Given the description of an element on the screen output the (x, y) to click on. 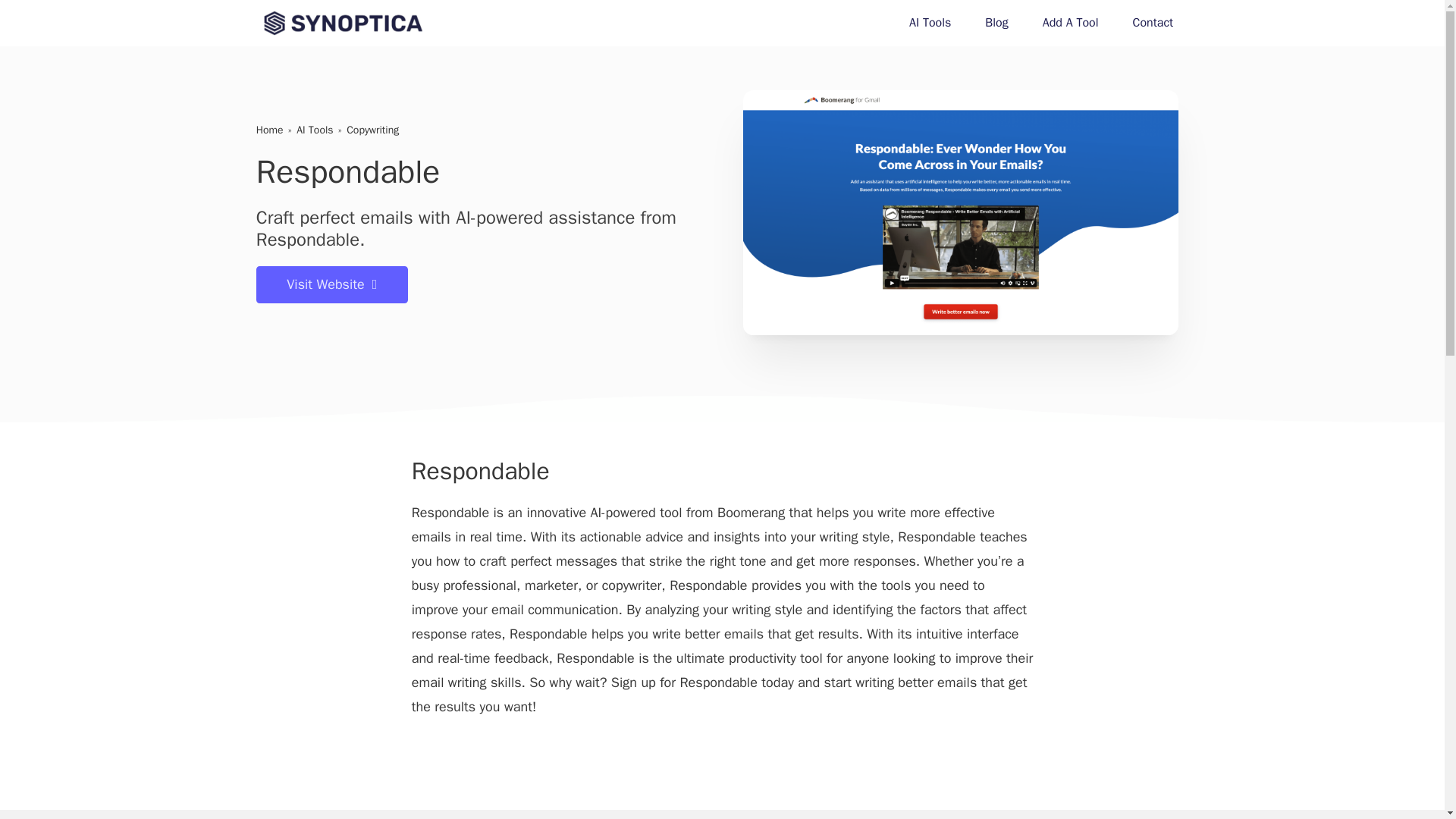
Home (269, 130)
Add A Tool (1070, 22)
Visit Website (331, 284)
Copywriting (372, 130)
AI Tools (929, 22)
Blog (996, 22)
Contact (1153, 22)
AI Tools (315, 130)
